Given the description of an element on the screen output the (x, y) to click on. 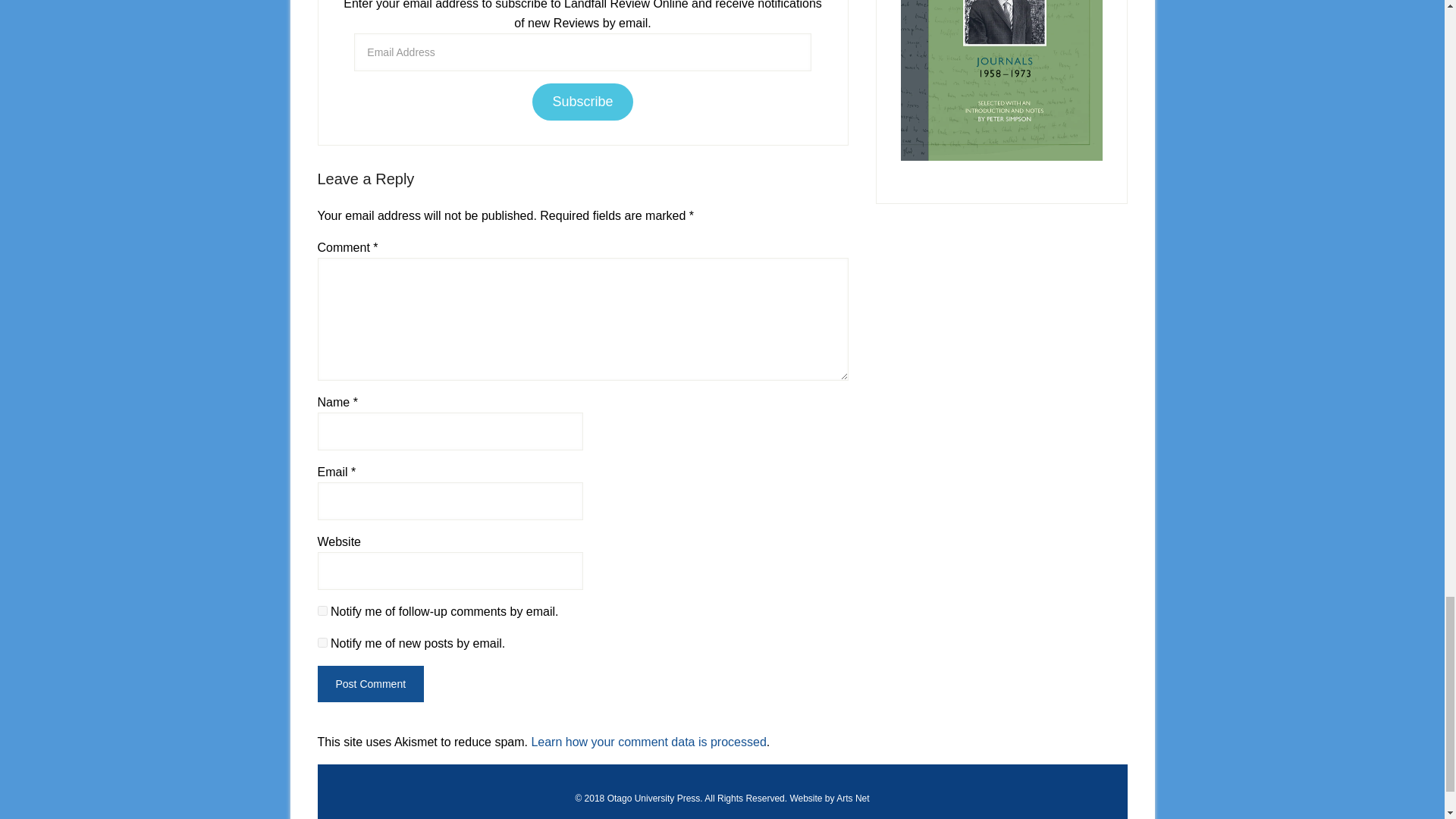
Subscribe (581, 101)
Charles Brasch Journals (1001, 79)
Otago University Press (653, 798)
Opens new window (852, 798)
Post Comment (370, 683)
Opens new window (653, 798)
Learn how your comment data is processed (648, 741)
subscribe (321, 642)
subscribe (321, 610)
Arts Net (852, 798)
